Given the description of an element on the screen output the (x, y) to click on. 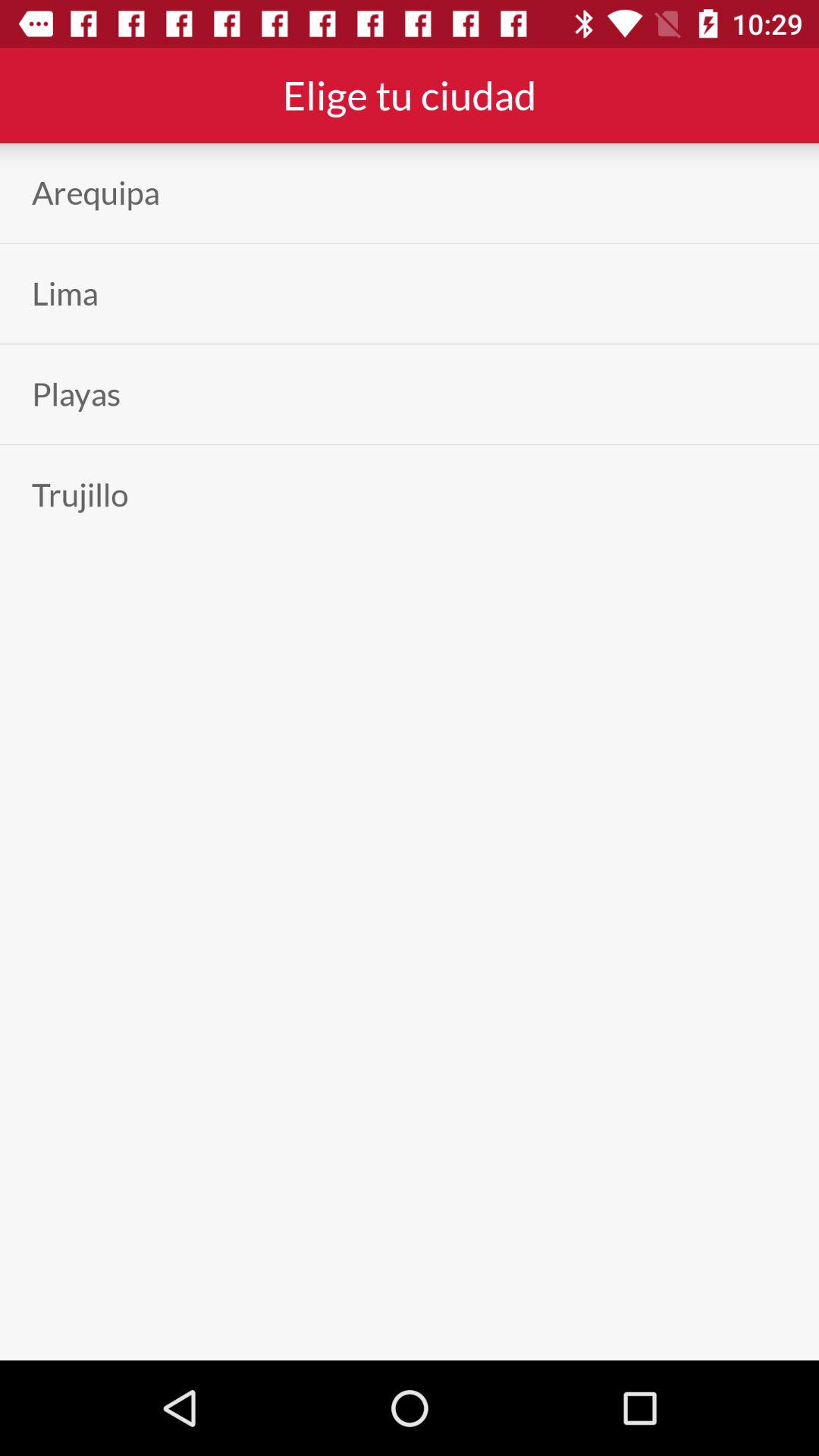
swipe to trujillo (79, 495)
